Given the description of an element on the screen output the (x, y) to click on. 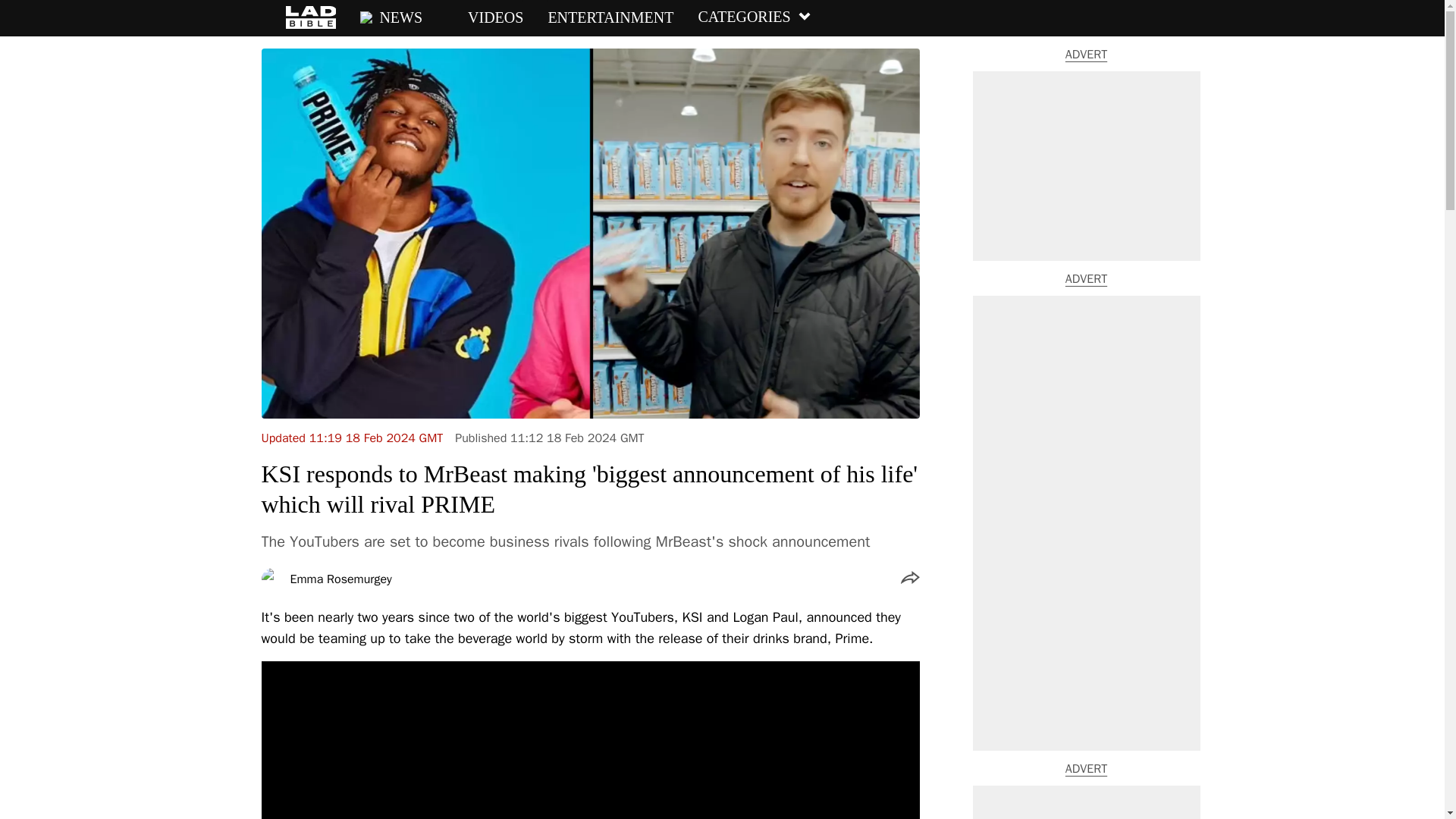
CATEGORIES (753, 17)
NEWS (390, 17)
ENTERTAINMENT (609, 17)
VIDEOS (484, 17)
